Given the description of an element on the screen output the (x, y) to click on. 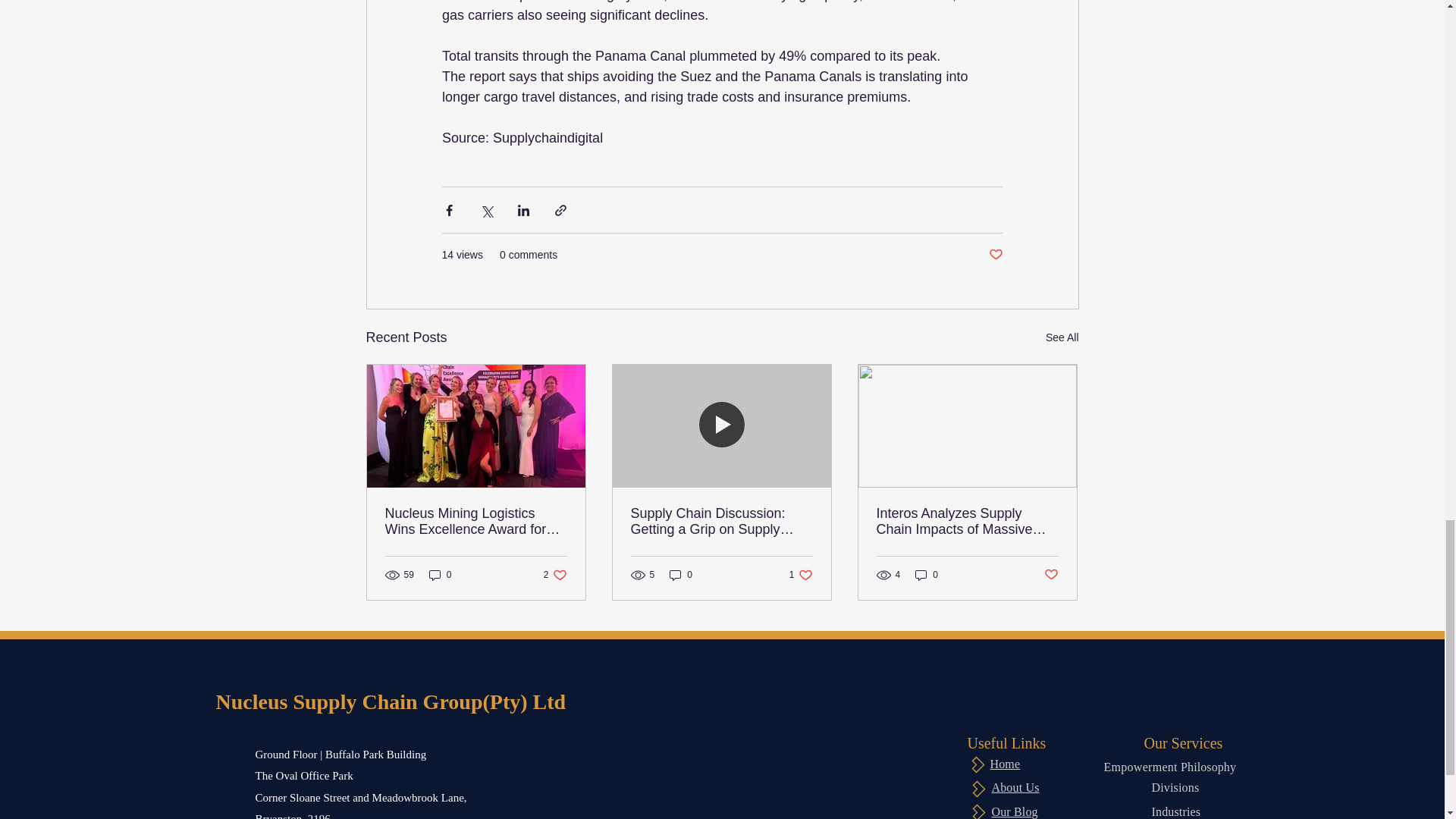
0 (926, 575)
Home (1005, 763)
0 (681, 575)
0 (440, 575)
Post not marked as liked (1050, 575)
Post not marked as liked (800, 575)
See All (995, 254)
About Us (1061, 337)
